Given the description of an element on the screen output the (x, y) to click on. 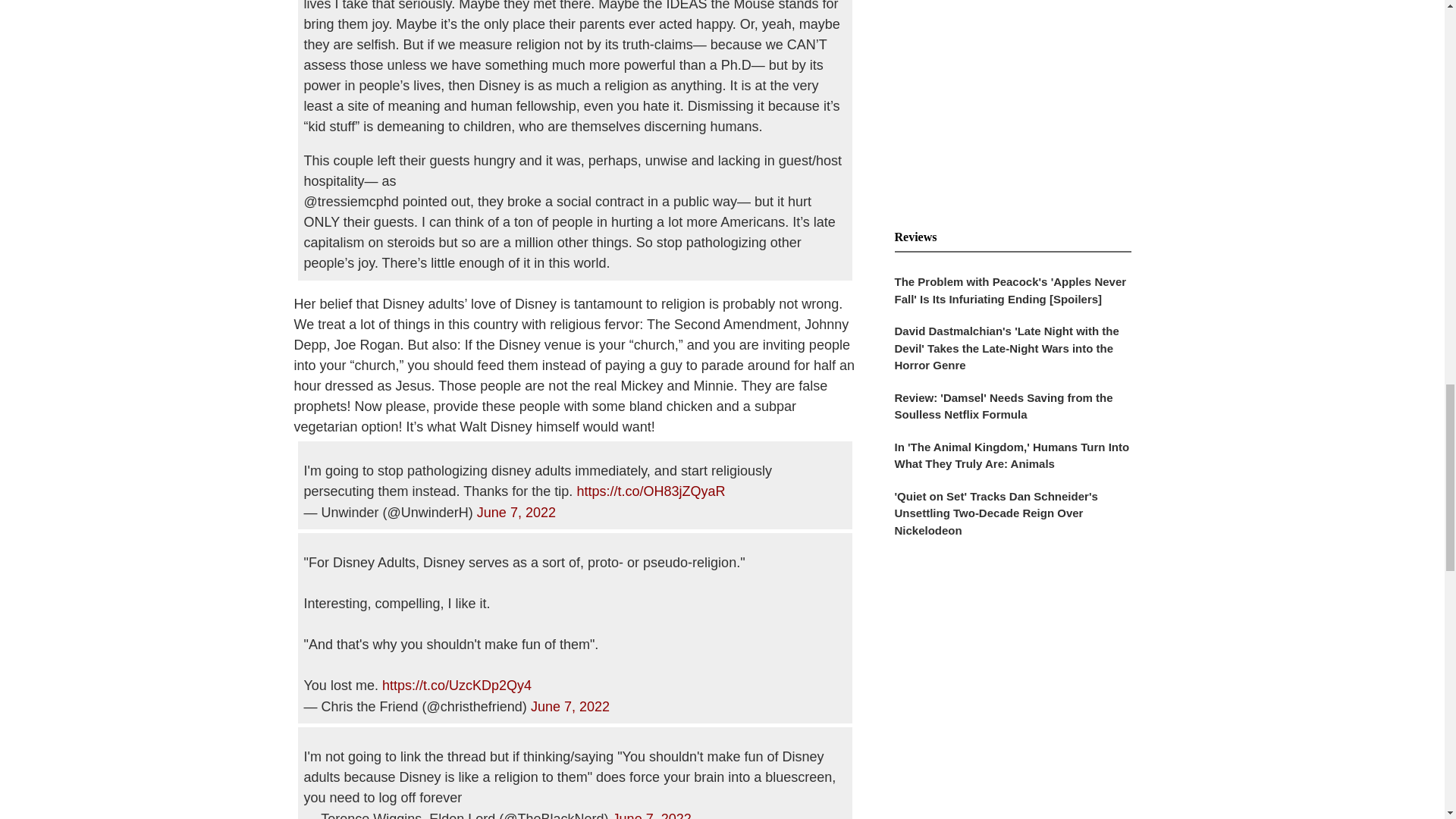
June 7, 2022 (570, 706)
June 7, 2022 (516, 512)
June 7, 2022 (651, 815)
